Given the description of an element on the screen output the (x, y) to click on. 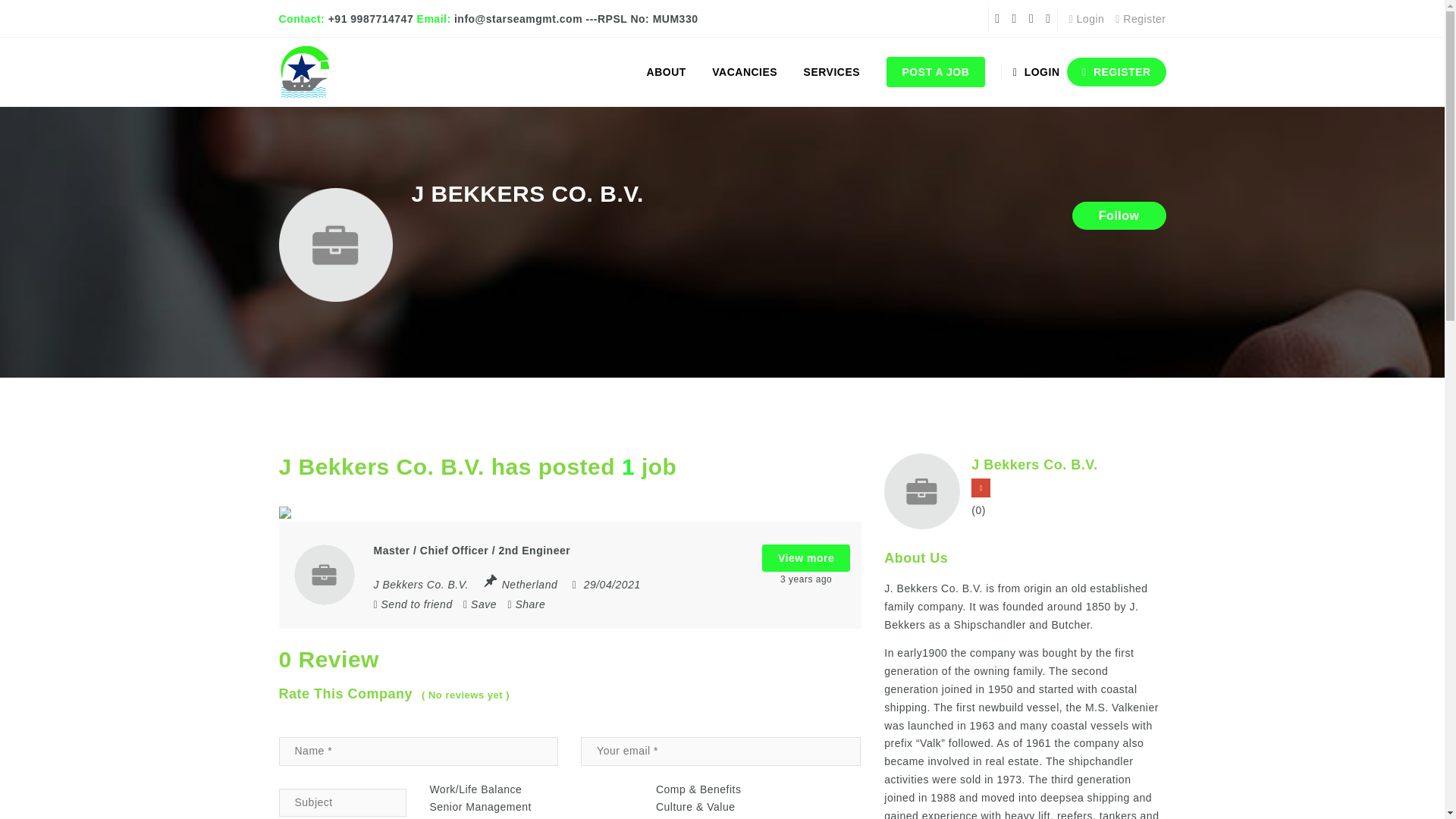
ABOUT (665, 71)
 Register (1140, 19)
 Login (1086, 19)
POST A JOB (935, 71)
Connect with us on Website (980, 487)
VACANCIES (744, 71)
 REGISTER (1116, 71)
SERVICES (832, 71)
Netherland (529, 584)
J Bekkers Co. B.V. (419, 584)
View more (805, 557)
